Given the description of an element on the screen output the (x, y) to click on. 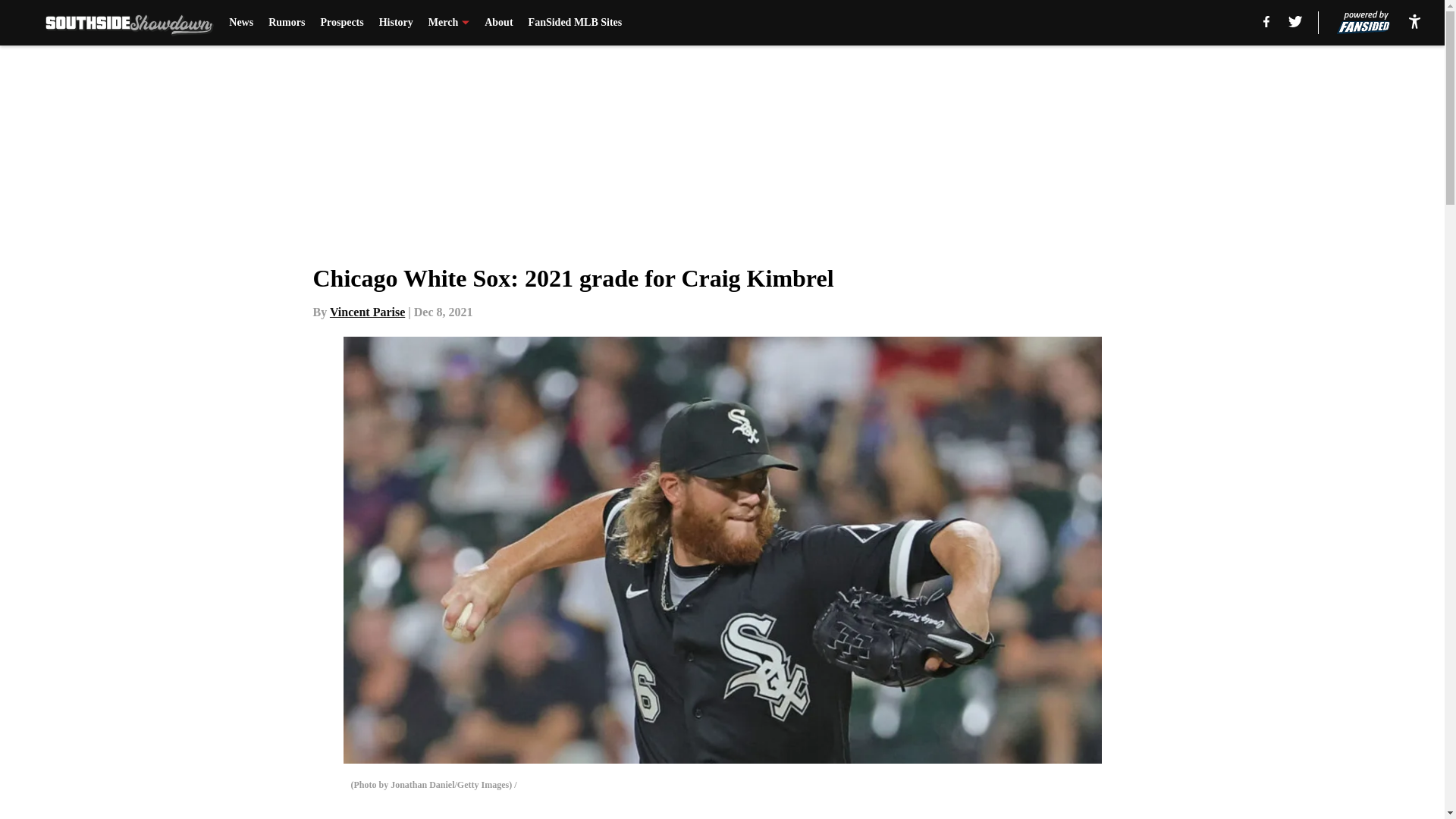
FanSided MLB Sites (575, 22)
History (395, 22)
News (240, 22)
Rumors (285, 22)
Vincent Parise (367, 311)
Prospects (341, 22)
About (498, 22)
